Given the description of an element on the screen output the (x, y) to click on. 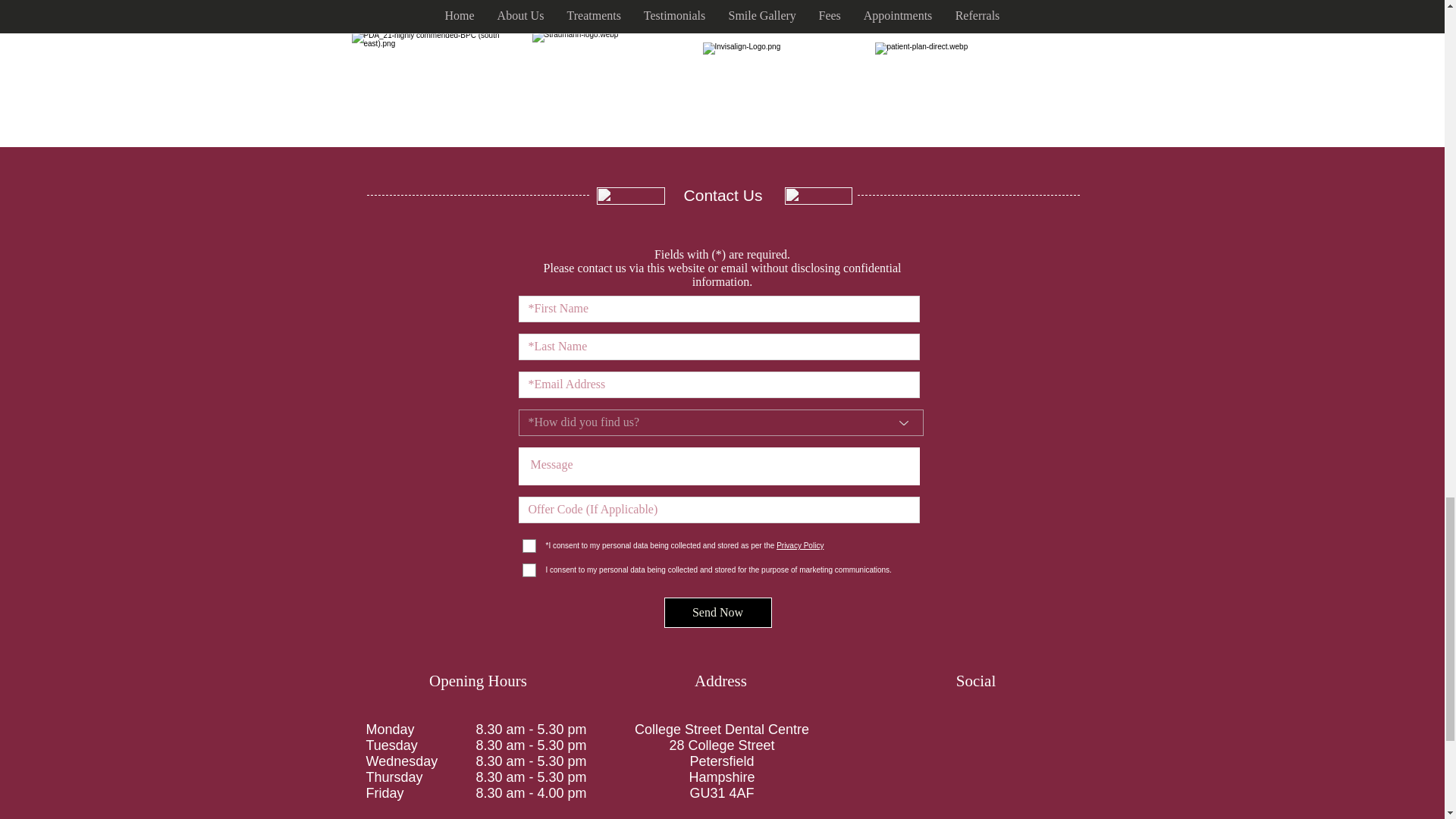
Send Now (717, 612)
Privacy Policy (799, 545)
01730 263180 (742, 818)
